Given the description of an element on the screen output the (x, y) to click on. 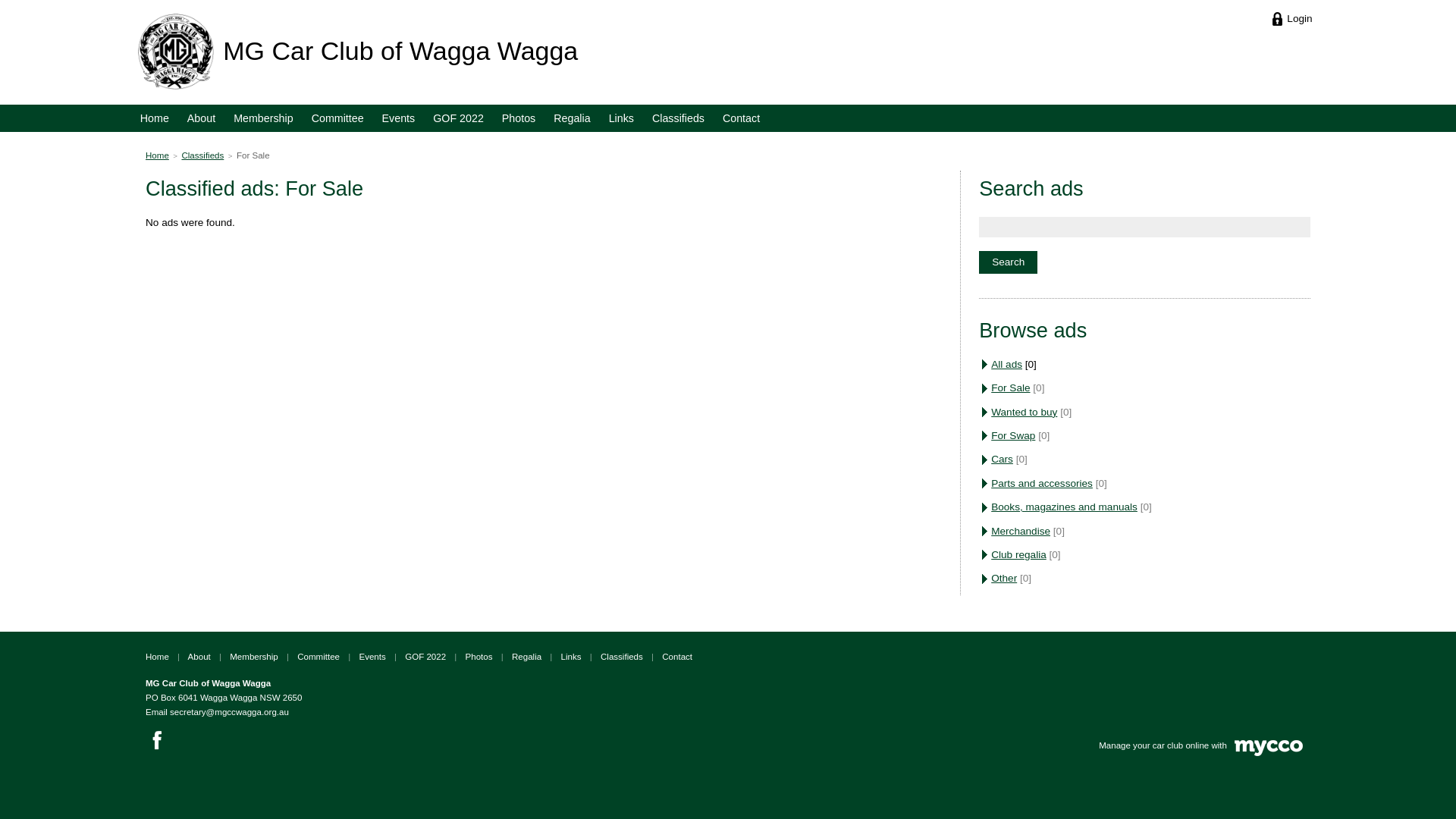
Links Element type: text (621, 117)
Login Element type: text (1292, 18)
Classifieds Element type: text (202, 155)
Open the mycco web site in a new tab/window Element type: hover (1268, 752)
Arrow head Element type: hover (986, 483)
Home Element type: text (154, 117)
Arrow head Element type: hover (986, 579)
Arrow head Element type: hover (986, 435)
Wanted to buy Element type: text (1024, 411)
Arrow head Element type: hover (986, 554)
Classifieds Element type: text (678, 117)
Membership Element type: text (263, 117)
Regalia Element type: text (571, 117)
Committee Element type: text (337, 117)
For Swap Element type: text (1013, 435)
GOF 2022 Element type: text (457, 117)
About Element type: text (199, 656)
Photos Element type: text (478, 656)
Arrow head Element type: hover (986, 507)
Arrow head Element type: hover (986, 388)
Arrow head Element type: hover (986, 460)
Committee Element type: text (318, 656)
Regalia Element type: text (526, 656)
Cars Element type: text (1002, 458)
MG Car Club of Wagga Wagga logo Element type: hover (175, 51)
Contact Element type: text (677, 656)
About Element type: text (201, 117)
Parts and accessories Element type: text (1041, 483)
Links Element type: text (571, 656)
Other Element type: text (1003, 577)
Classifieds Element type: text (621, 656)
secretary@mgccwagga.org.au Element type: text (228, 711)
Arrow head Element type: hover (986, 412)
Membership Element type: text (253, 656)
Home Element type: text (157, 656)
Home page Element type: hover (175, 50)
Arrow head Element type: hover (986, 531)
Merchandise Element type: text (1020, 530)
GOF 2022 Element type: text (424, 656)
Contact Element type: text (740, 117)
Photos Element type: text (518, 117)
All ads Element type: text (1006, 364)
Search Element type: text (1008, 262)
Books, magazines and manuals Element type: text (1064, 506)
Arrow head Element type: hover (986, 364)
For Sale Element type: text (1010, 387)
Home Element type: text (157, 155)
Events Element type: text (371, 656)
Events Element type: text (398, 117)
Club regalia Element type: text (1018, 554)
